Given the description of an element on the screen output the (x, y) to click on. 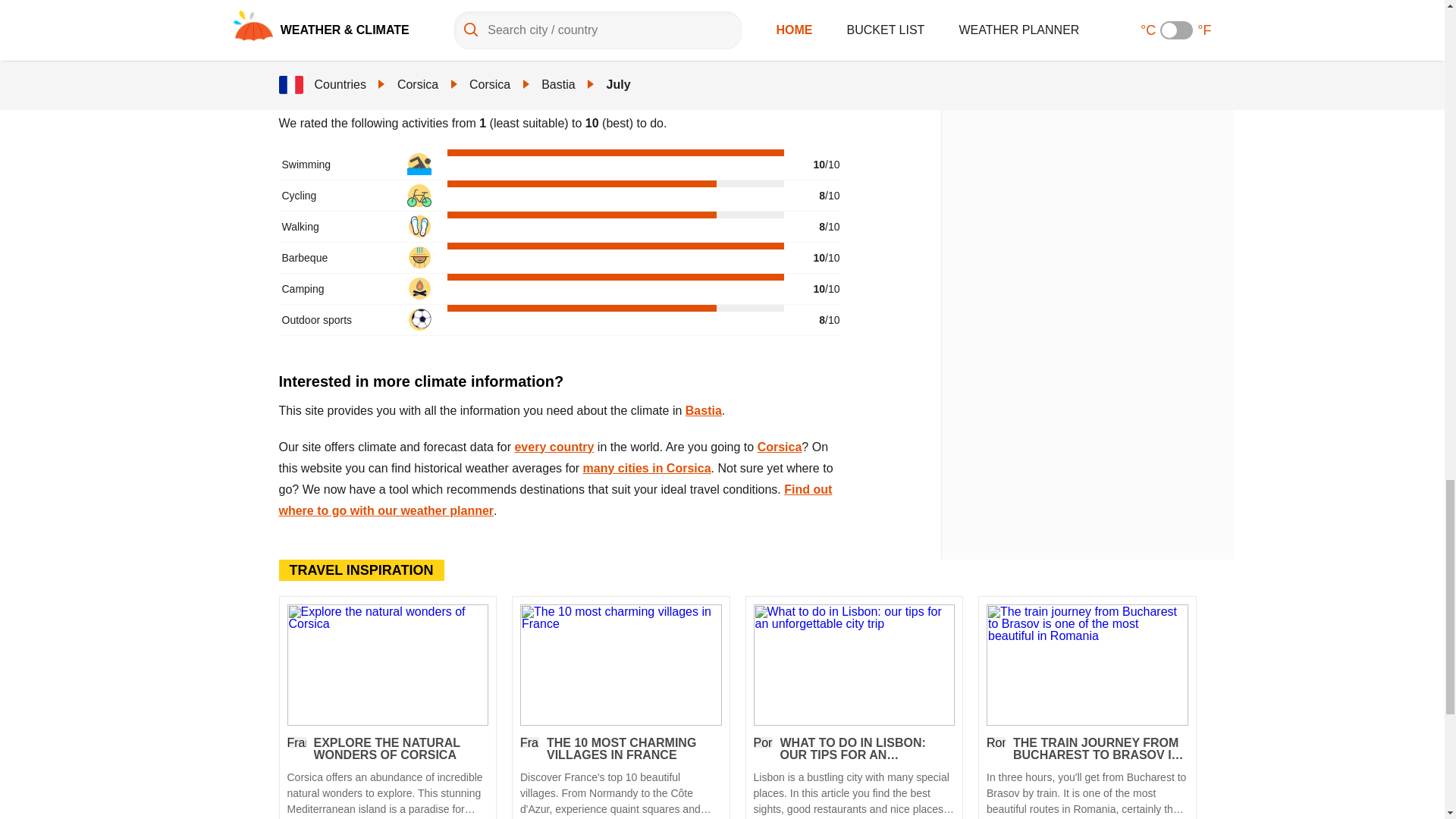
The 10 most charming villages in France (620, 663)
Explore the natural wonders of Corsica  (386, 777)
Explore the natural wonders of Corsica  (386, 663)
